Given the description of an element on the screen output the (x, y) to click on. 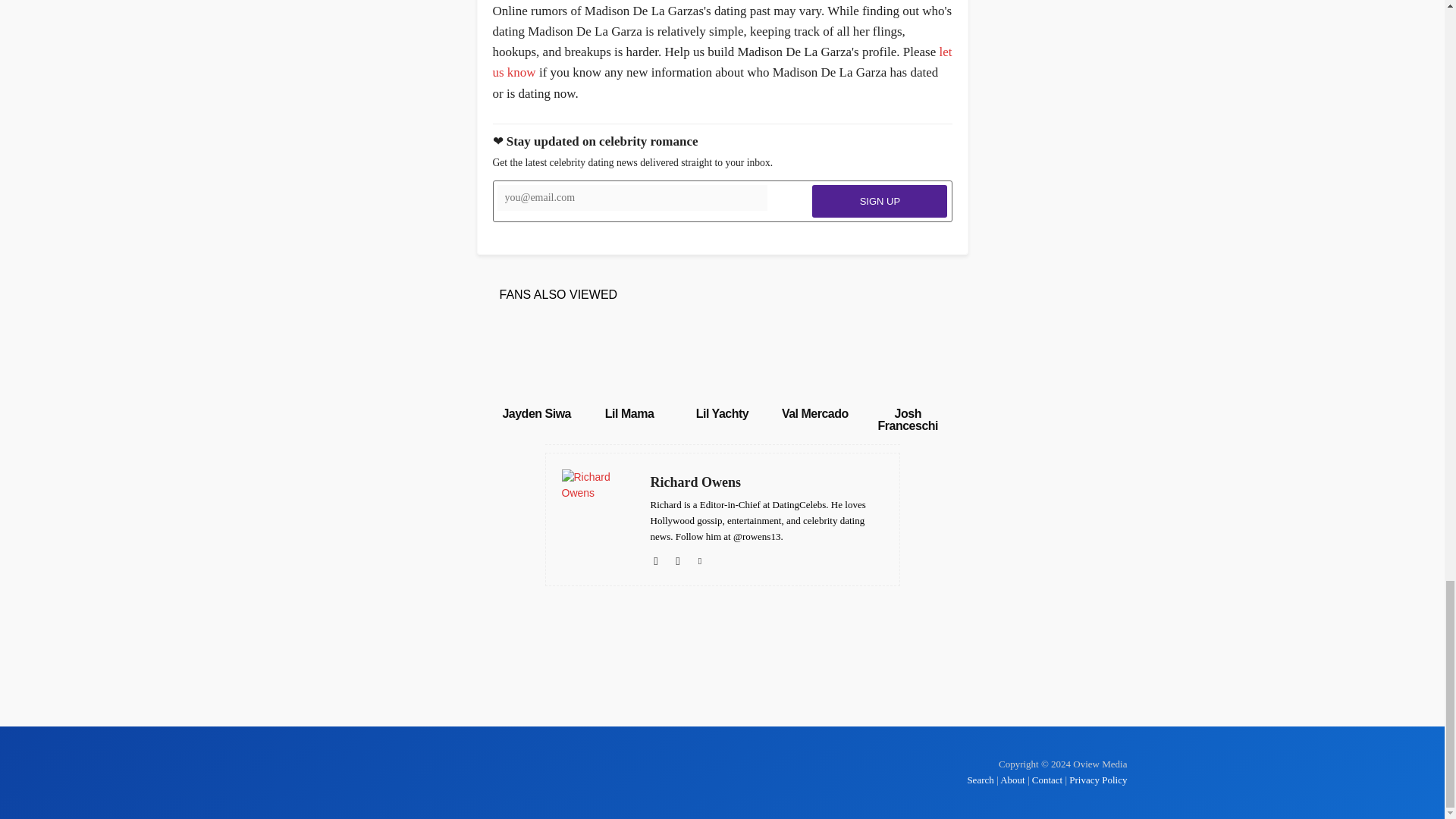
Jayden Siwa (536, 360)
Jayden Siwa (536, 413)
Jayden Siwa (536, 413)
Richard Owens (766, 482)
About (1012, 779)
Josh Franceschi (907, 419)
SIGN UP (879, 201)
Lil Yachty (721, 413)
Search (980, 779)
Lil Mama (629, 360)
let us know (722, 62)
Lil Mama (629, 413)
Val Mercado (814, 413)
Lil Mama (629, 413)
SIGN UP (879, 201)
